Given the description of an element on the screen output the (x, y) to click on. 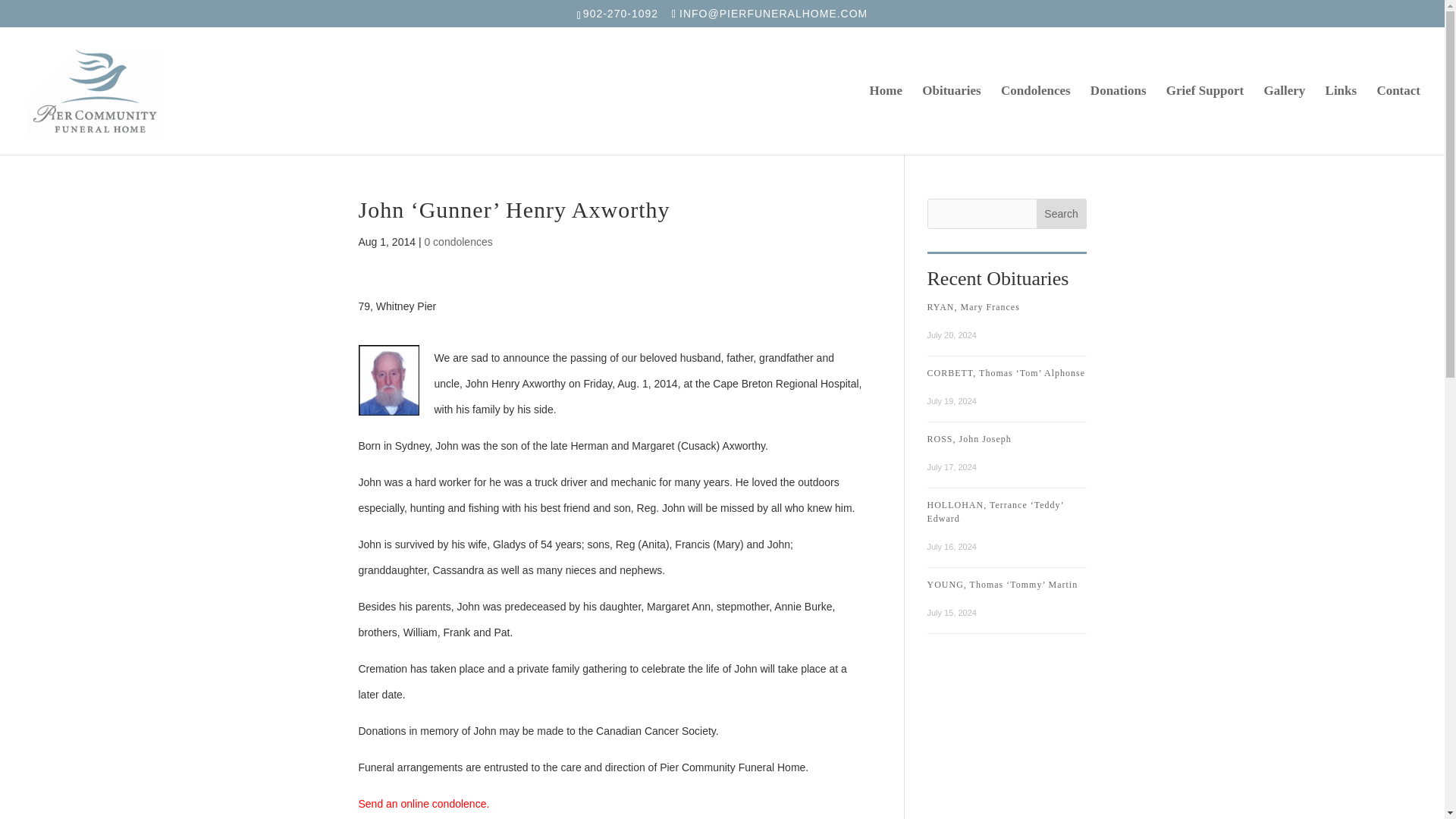
Search (1061, 214)
RYAN, Mary Frances (972, 307)
0 condolences (457, 241)
Grief Support (1204, 119)
Send an online condolence. (423, 803)
902-270-1092 (622, 13)
ROSS, John Joseph (968, 439)
Condolences (1035, 119)
